Given the description of an element on the screen output the (x, y) to click on. 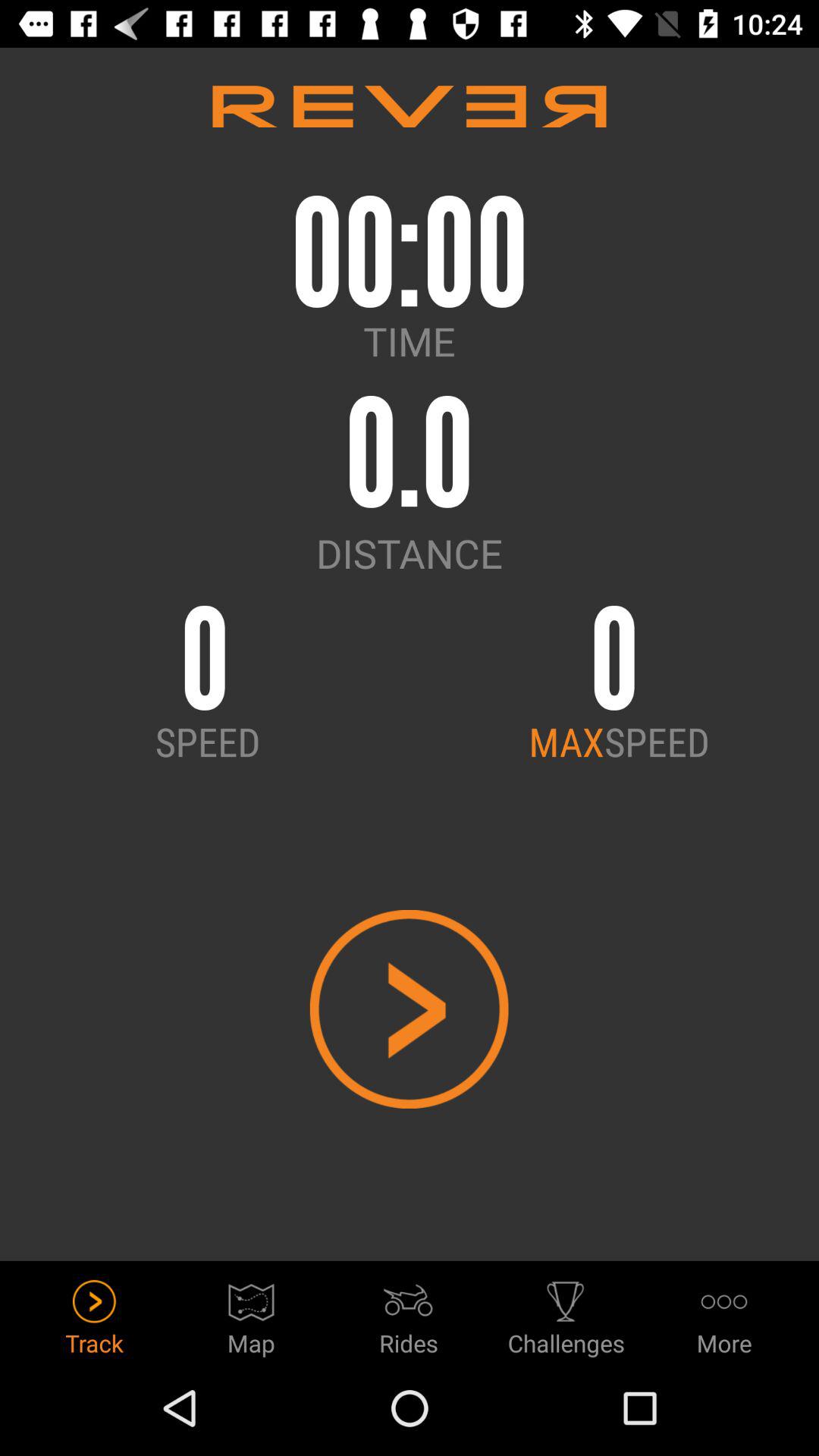
launch map (251, 1313)
